Given the description of an element on the screen output the (x, y) to click on. 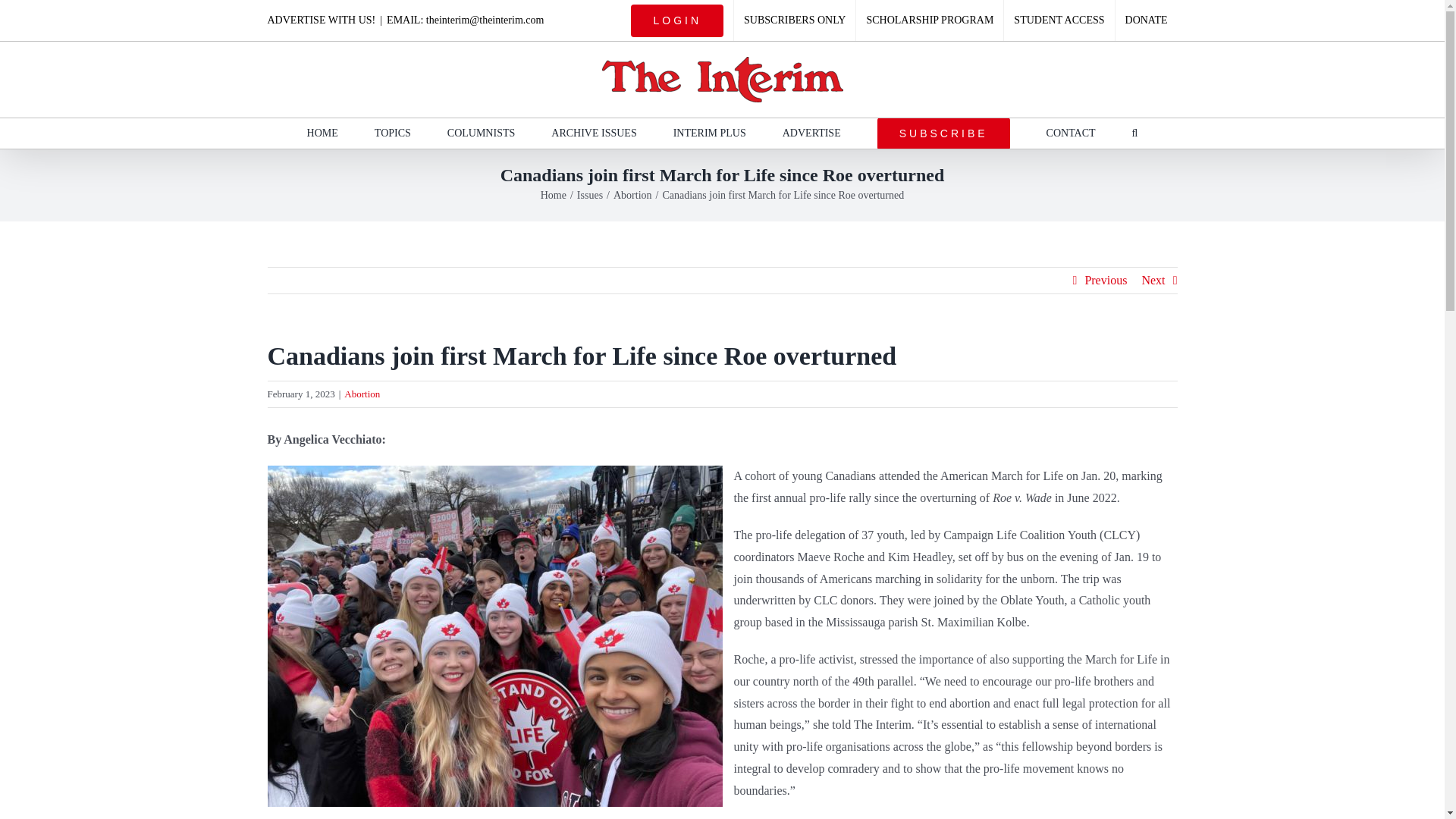
HOME (322, 132)
ARCHIVE ISSUES (593, 132)
STUDENT ACCESS (1058, 20)
Home (553, 194)
CONTACT (1071, 132)
COLUMNISTS (480, 132)
SUBSCRIBERS ONLY (794, 20)
LOGIN (677, 20)
INTERIM PLUS (708, 132)
DONATE (1146, 20)
Previous (1105, 280)
Search (1135, 132)
TOPICS (392, 132)
Next (1152, 280)
Abortion (632, 194)
